Given the description of an element on the screen output the (x, y) to click on. 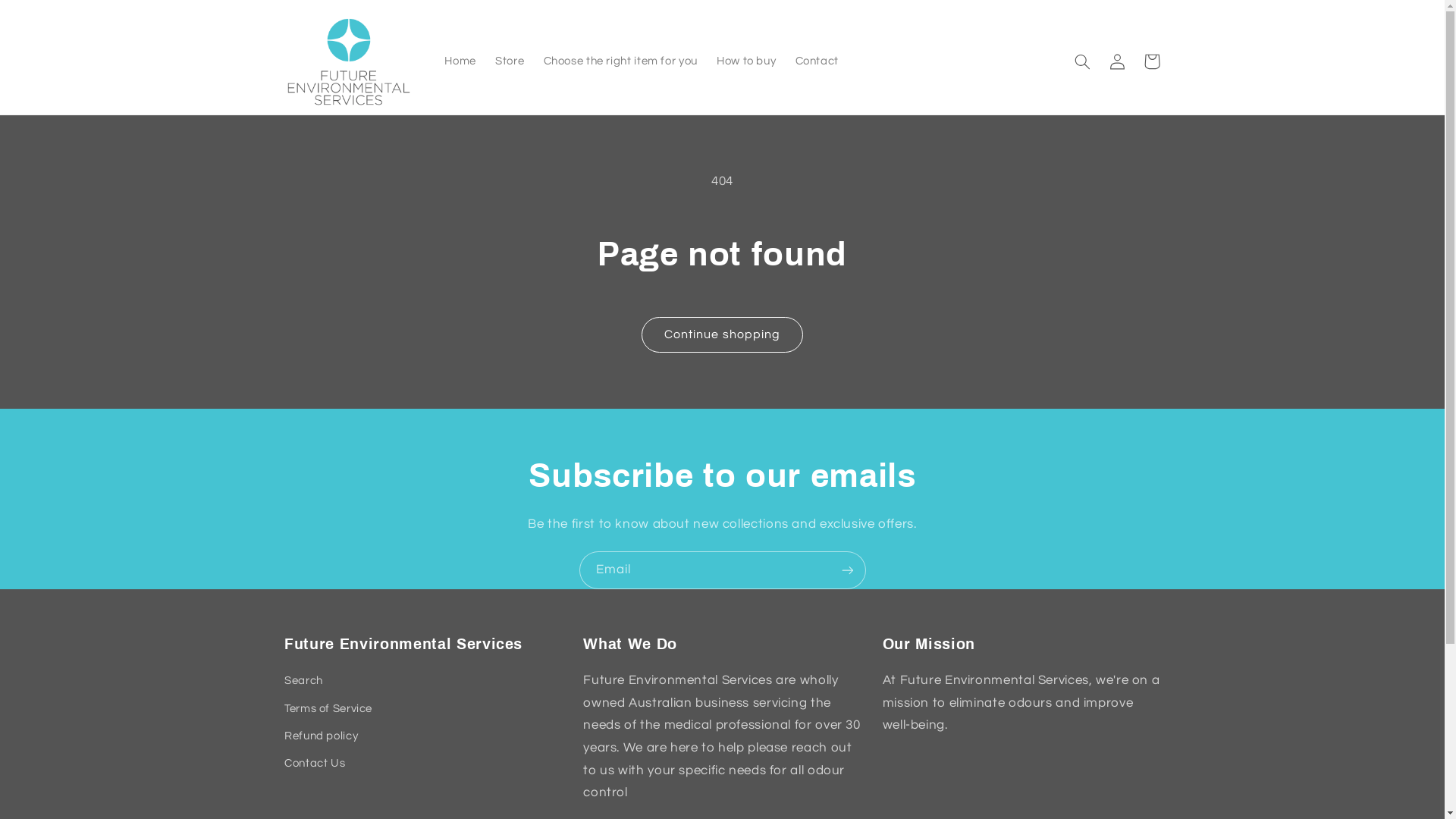
Log in Element type: text (1116, 60)
Contact Element type: text (816, 61)
Refund policy Element type: text (320, 735)
Search Element type: text (303, 682)
Terms of Service Element type: text (328, 707)
Continue shopping Element type: text (722, 334)
Contact Us Element type: text (314, 763)
Store Element type: text (509, 61)
Home Element type: text (460, 61)
How to buy Element type: text (745, 61)
Cart Element type: text (1151, 60)
Choose the right item for you Element type: text (619, 61)
